Given the description of an element on the screen output the (x, y) to click on. 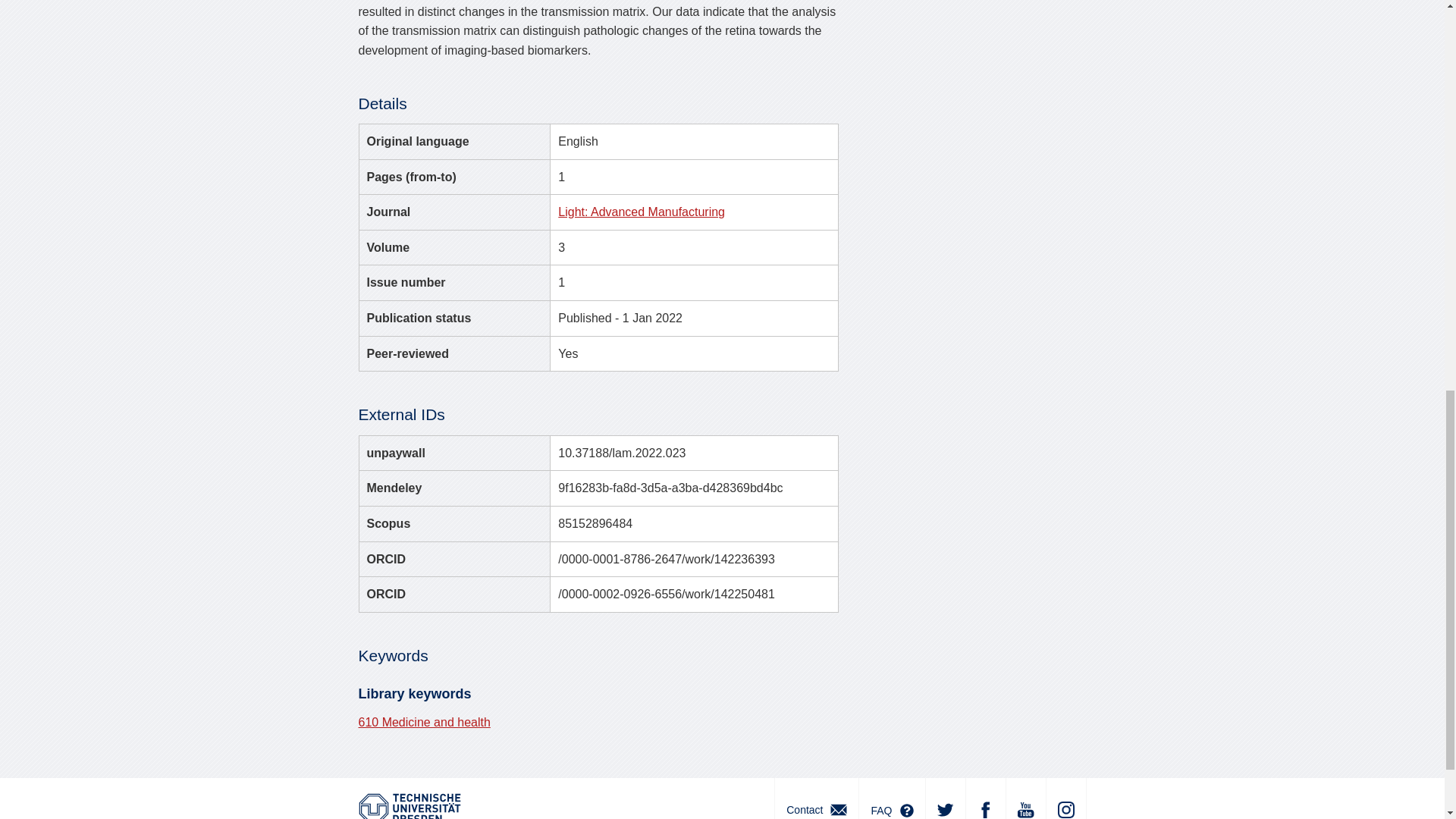
Facebook (983, 798)
Instagram (1065, 798)
Contact (816, 798)
Youtube (1025, 798)
Light: Advanced Manufacturing (641, 211)
FAQ (891, 798)
610 Medicine and health (423, 721)
Twitter (944, 798)
